Given the description of an element on the screen output the (x, y) to click on. 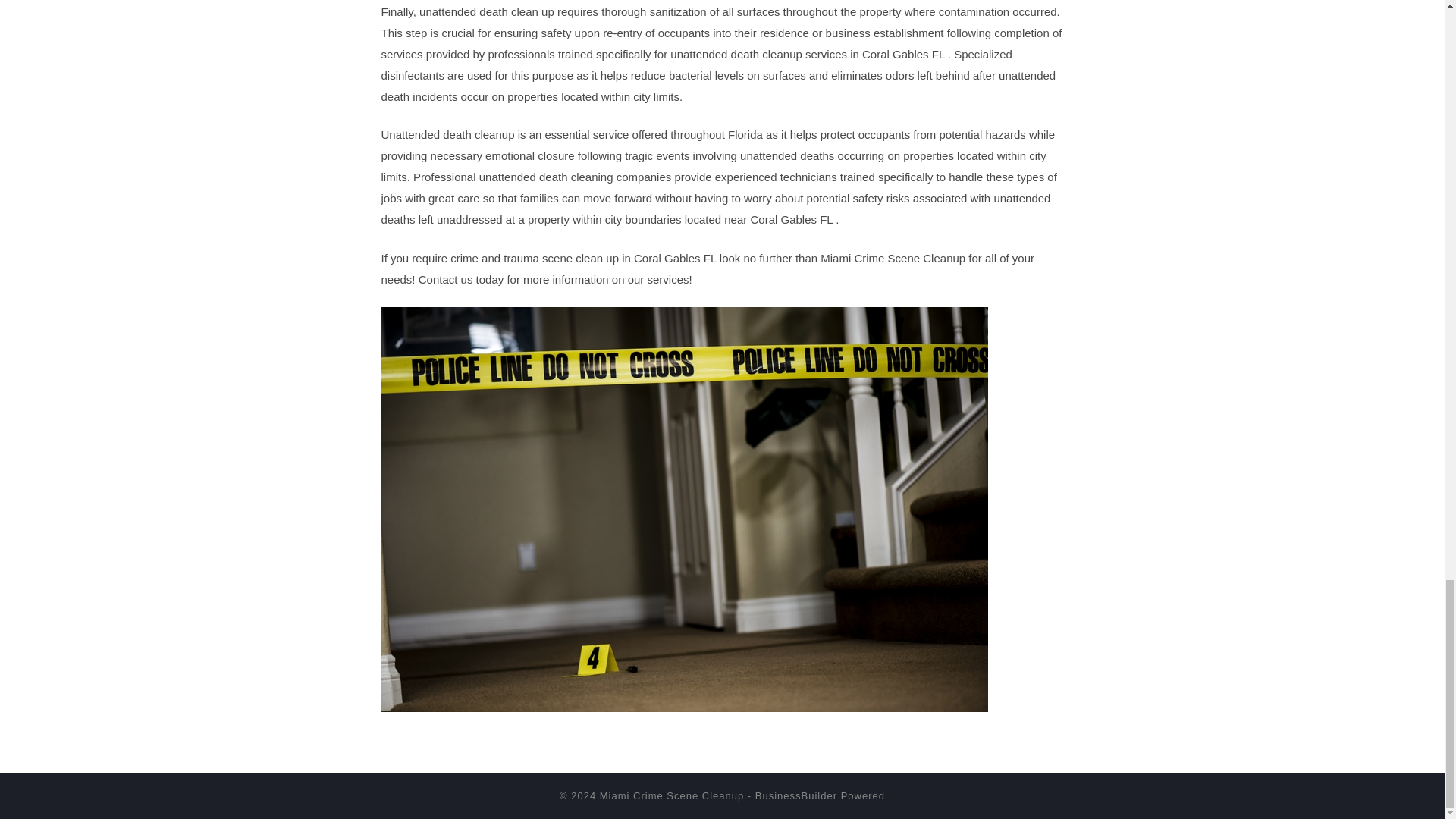
BusinessBuilder (796, 795)
